Given the description of an element on the screen output the (x, y) to click on. 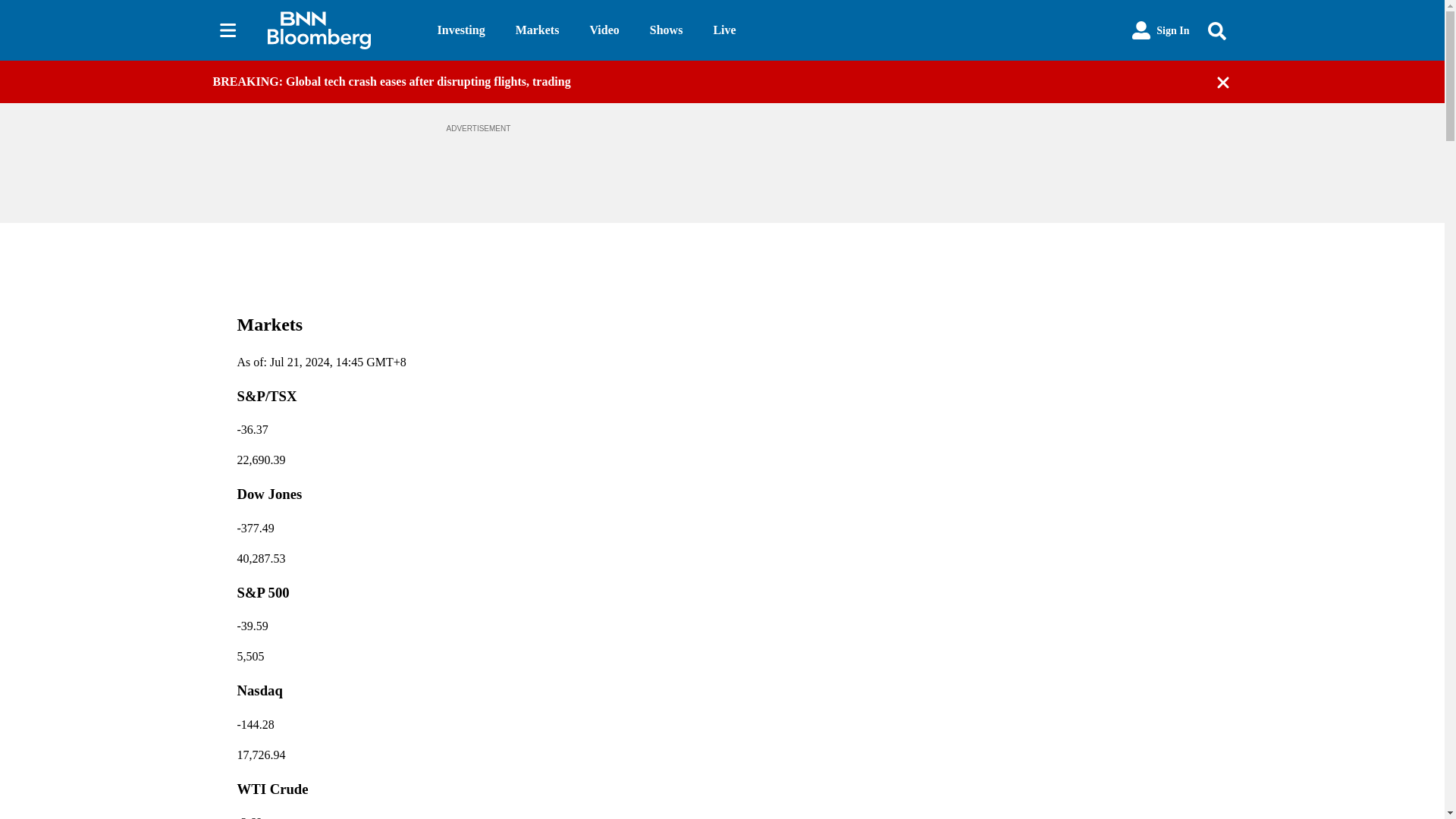
Sign In (1160, 30)
Video (603, 30)
Sections (227, 30)
BNN Bloomberg (339, 30)
Live (724, 30)
Markets (537, 30)
Investing (460, 30)
Shows (665, 30)
